Given the description of an element on the screen output the (x, y) to click on. 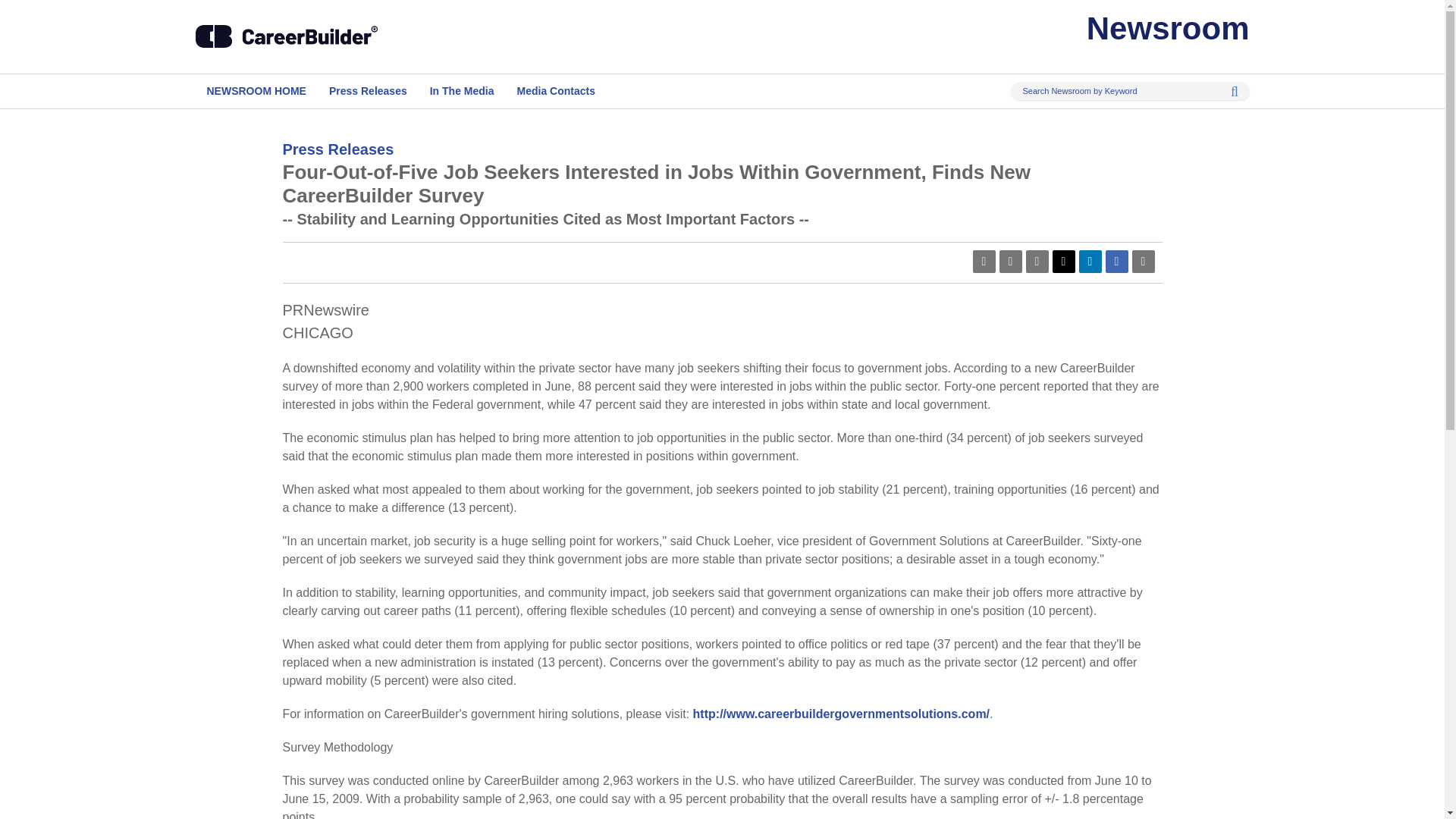
Search (1229, 91)
email (1036, 261)
Twitter Share (1063, 261)
Press Releases (337, 149)
pdf (983, 261)
In The Media (462, 91)
rss (1010, 261)
NEWSROOM HOME (256, 91)
print (1142, 261)
Linkedin Share (1089, 261)
Media Contacts (556, 91)
Search Newsroom by Keyword (1129, 90)
Facebook Share (1116, 261)
Press Releases (368, 91)
